Given the description of an element on the screen output the (x, y) to click on. 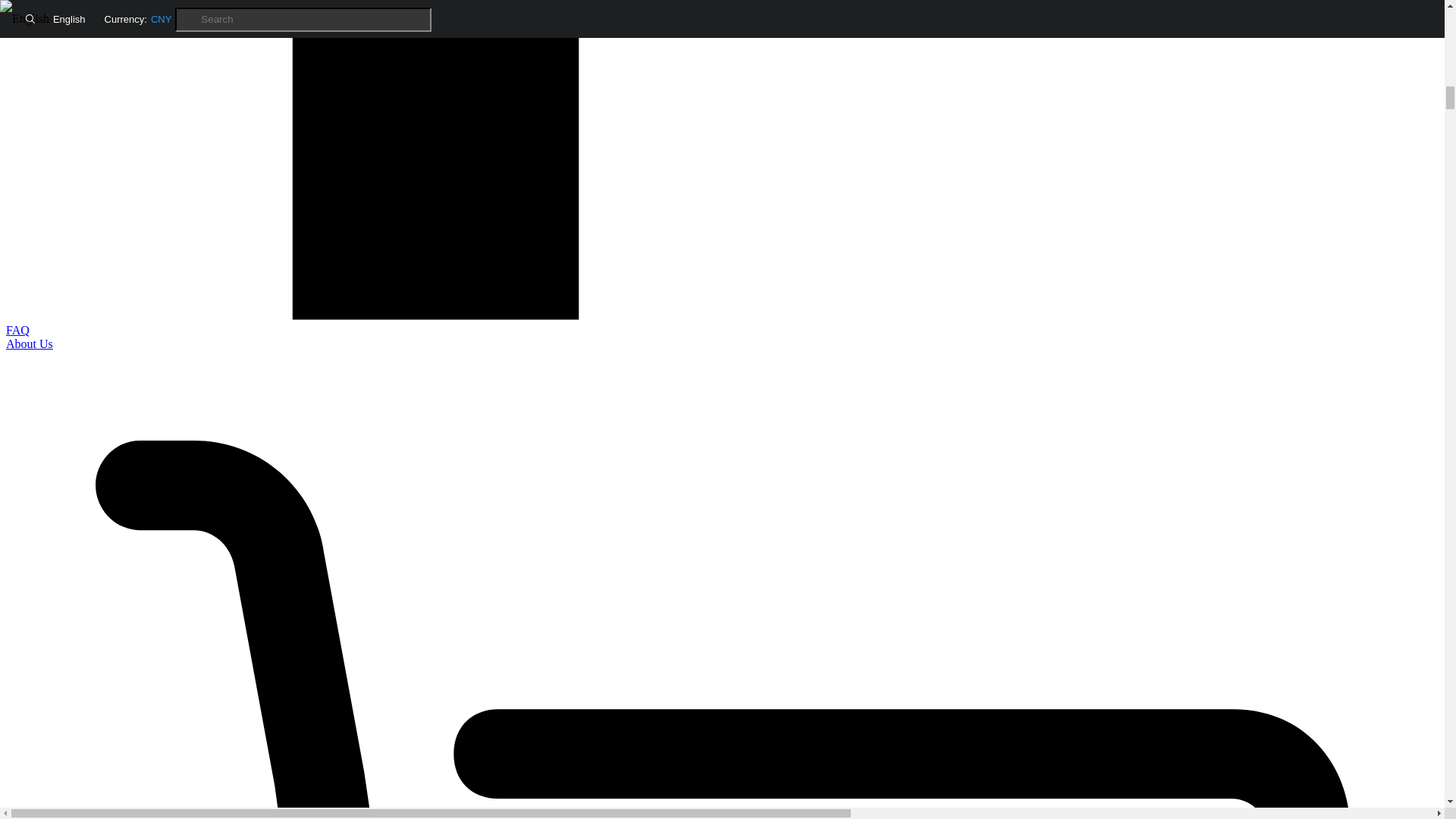
About Us (28, 343)
FAQ (17, 329)
